Given the description of an element on the screen output the (x, y) to click on. 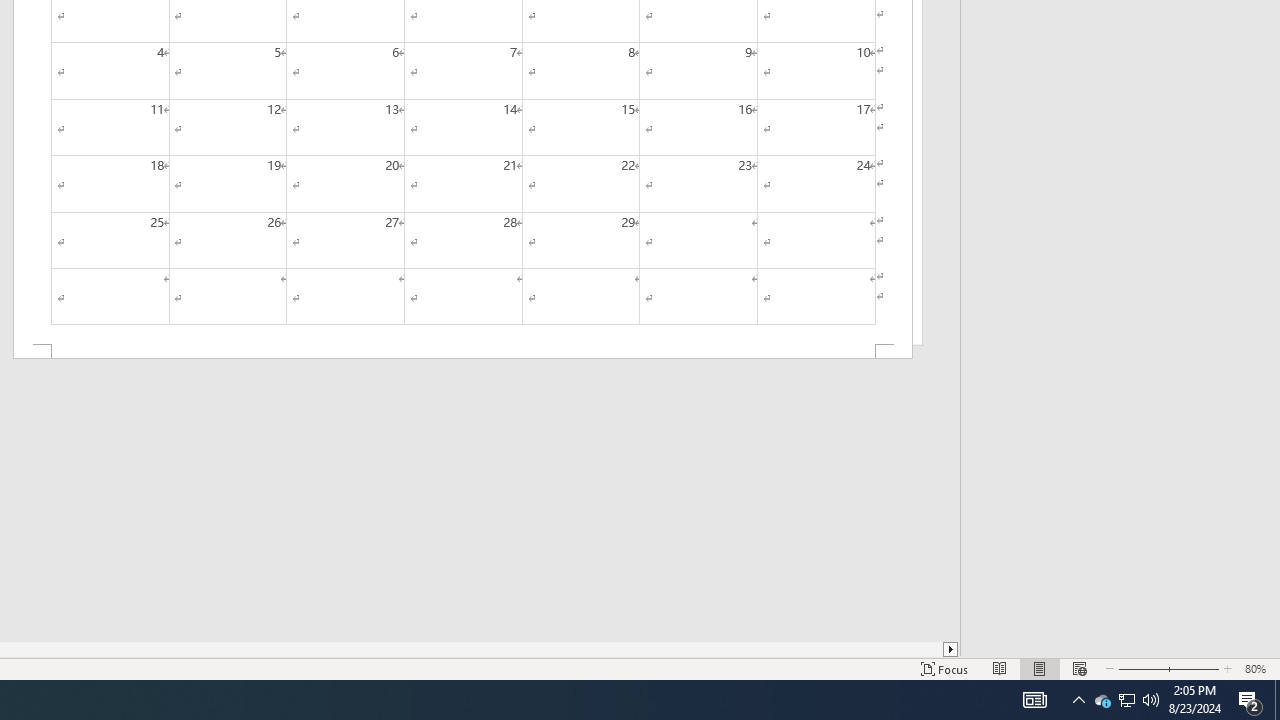
Column right (951, 649)
Footer -Section 2- (462, 351)
